Given the description of an element on the screen output the (x, y) to click on. 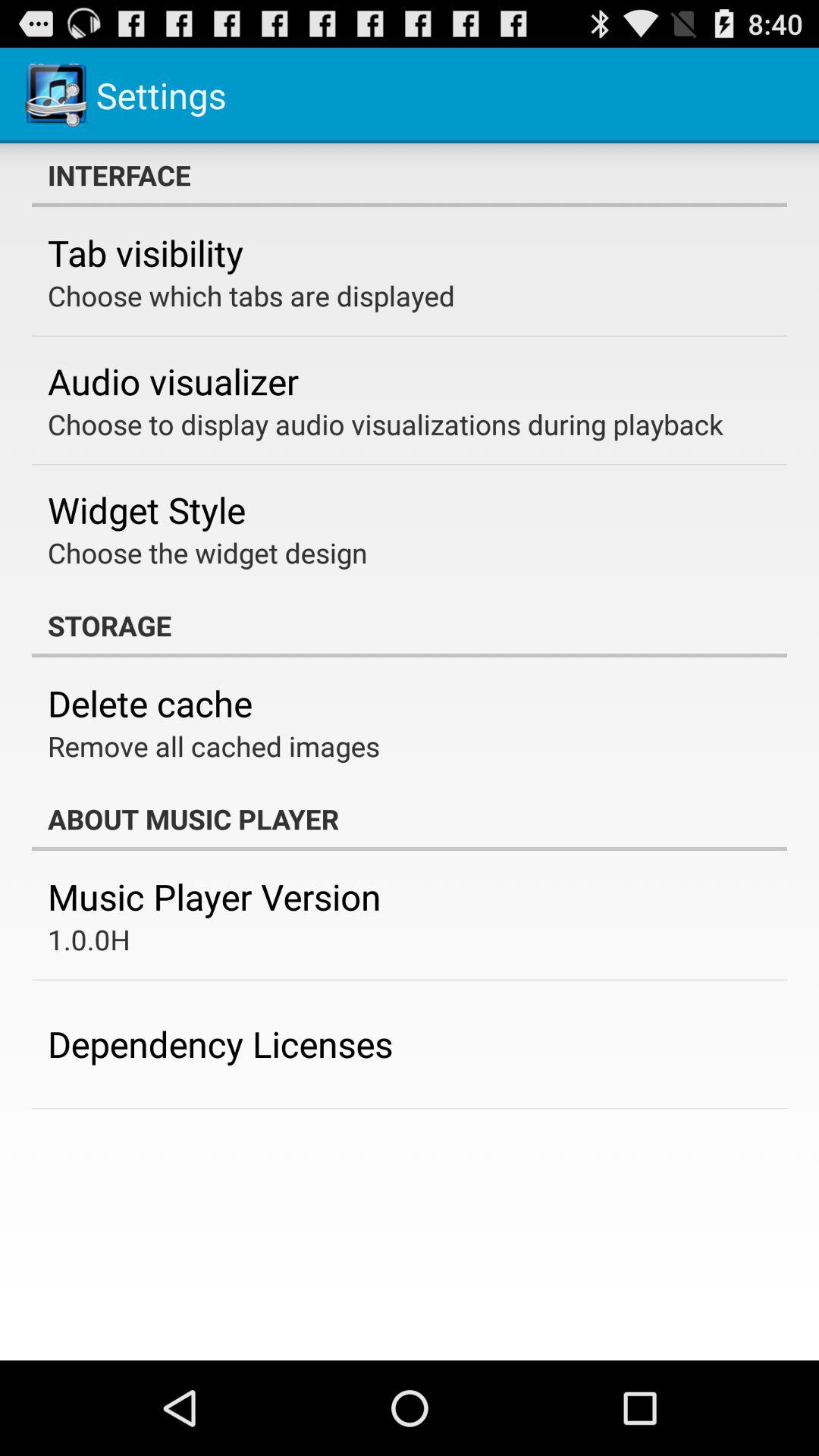
turn on app above delete cache icon (409, 625)
